Given the description of an element on the screen output the (x, y) to click on. 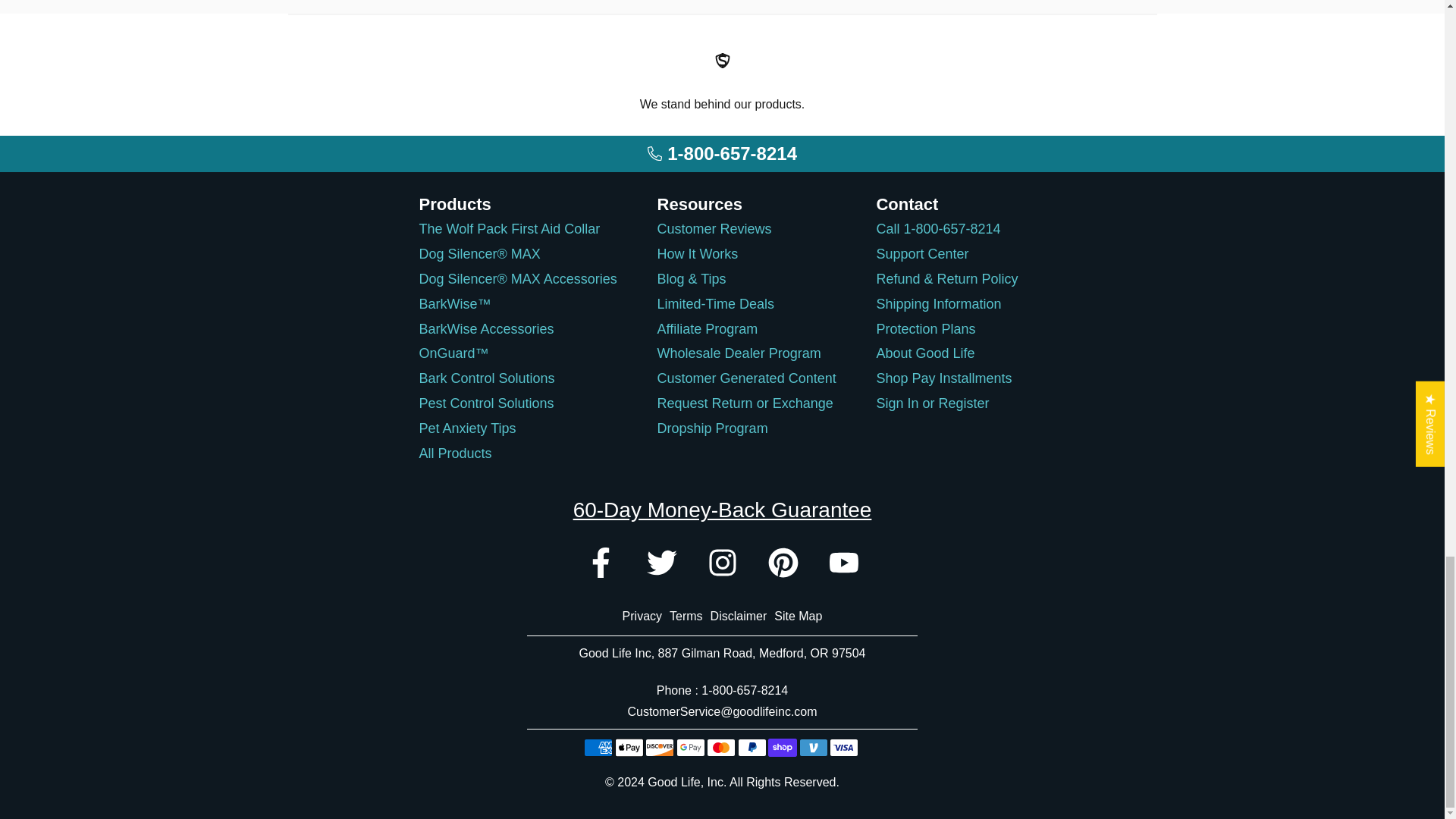
Join us on Pinterest! (782, 562)
Join us on Instagram! (721, 562)
Check out our YouTube channel! (843, 562)
Join us on Twitter! (661, 562)
Join us on Instagram! (721, 562)
Join us on Twitter! (661, 562)
Join us on Pinterest! (782, 562)
Check out our YouTube channel! (843, 562)
